Given the description of an element on the screen output the (x, y) to click on. 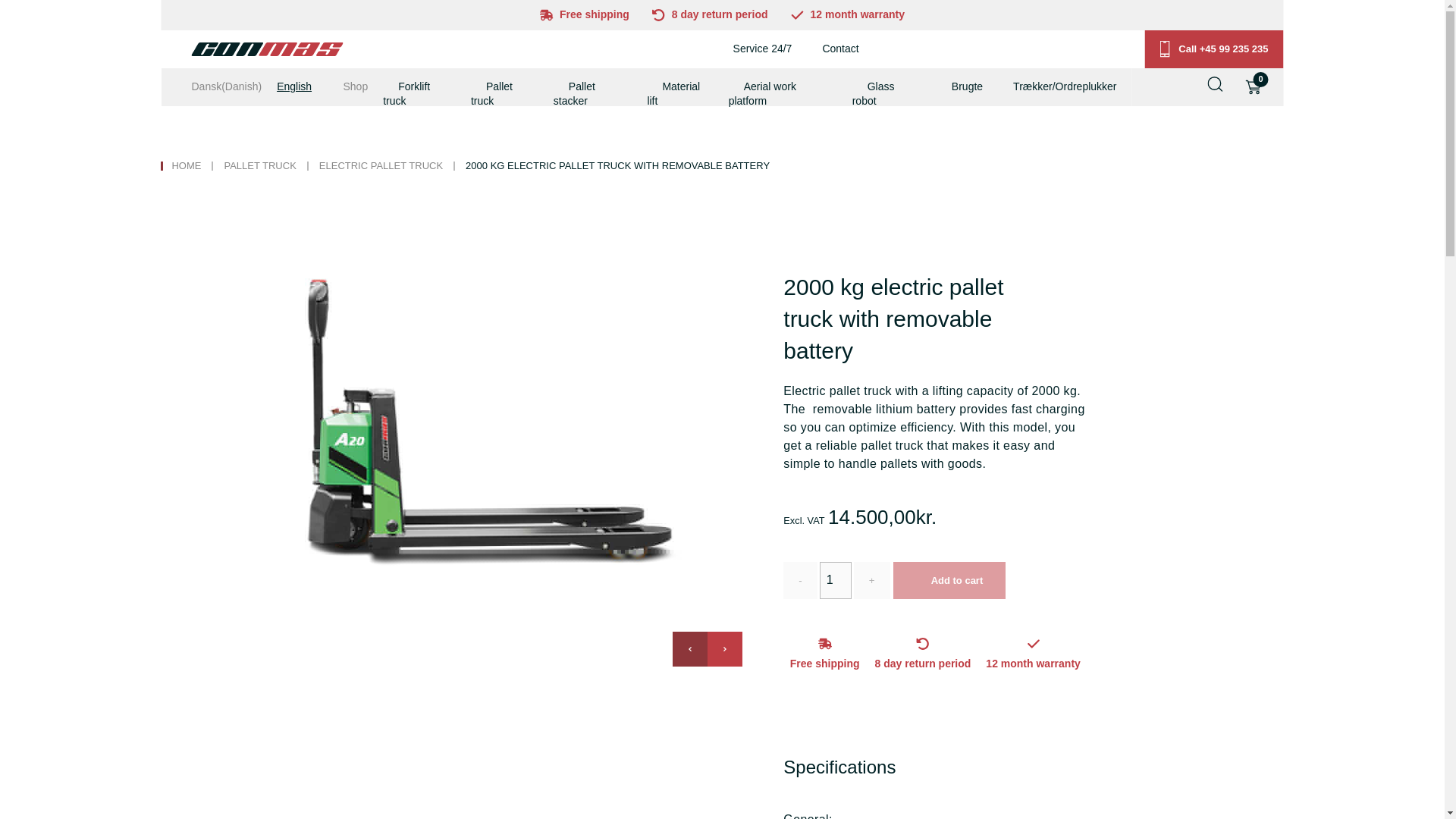
Contact (839, 48)
English (301, 87)
Shop (354, 86)
Forklift truck (405, 93)
Danish (233, 87)
Pallet truck (491, 93)
English (301, 87)
